Given the description of an element on the screen output the (x, y) to click on. 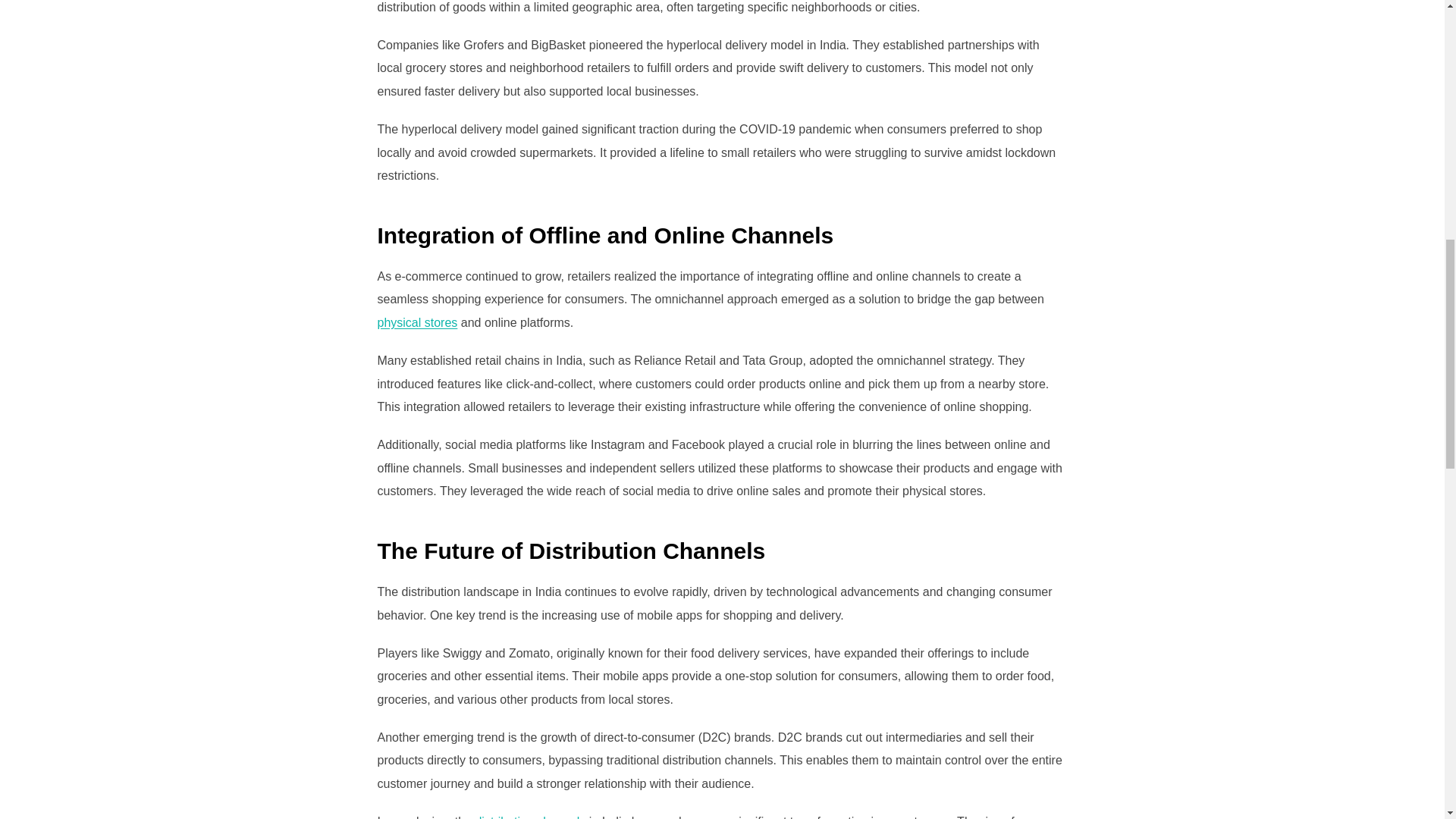
physical stores (417, 322)
distribution channels (529, 816)
